Given the description of an element on the screen output the (x, y) to click on. 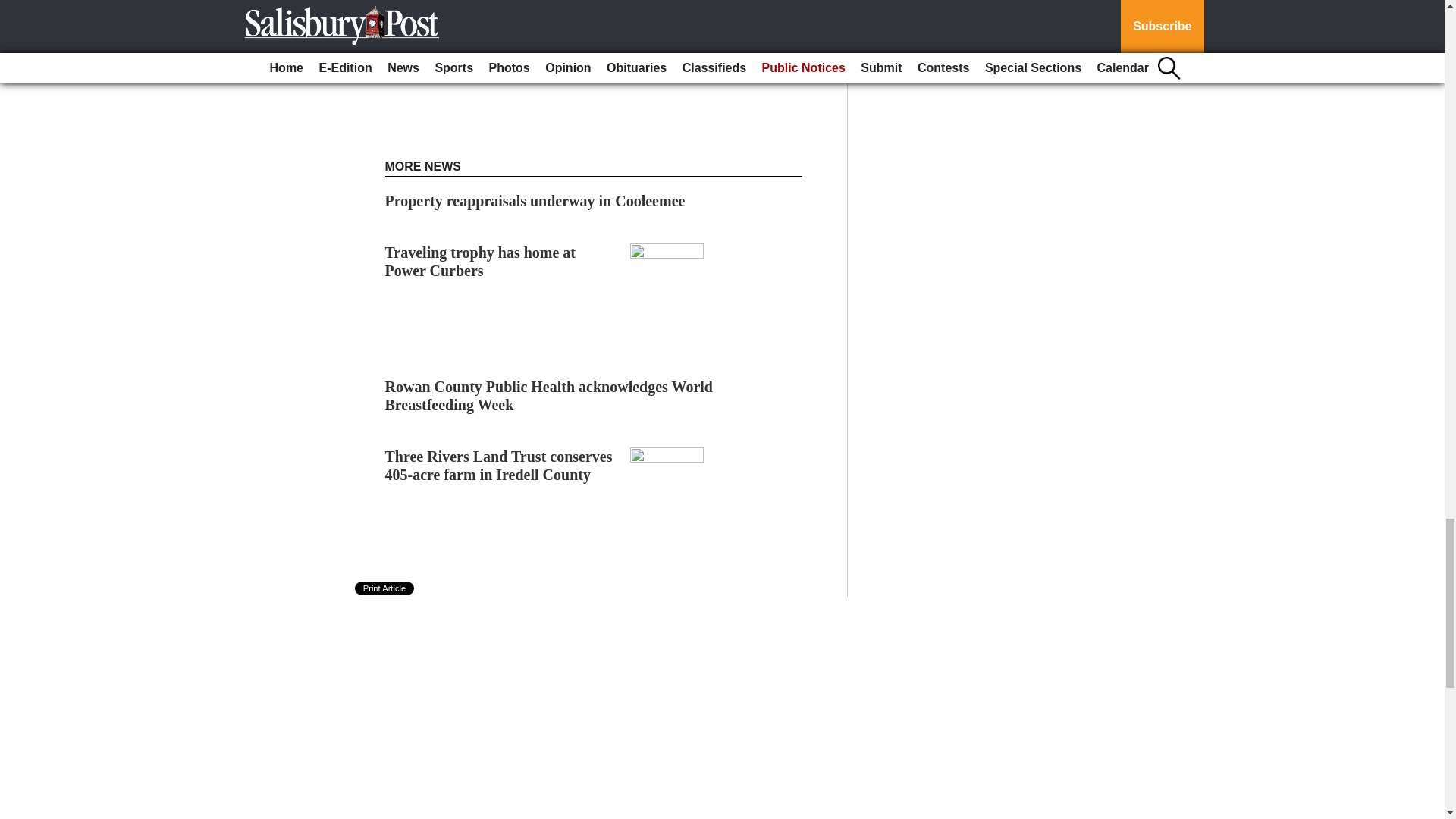
Property reappraisals underway in Cooleemee (535, 200)
Traveling trophy has home at Power Curbers (480, 261)
